Given the description of an element on the screen output the (x, y) to click on. 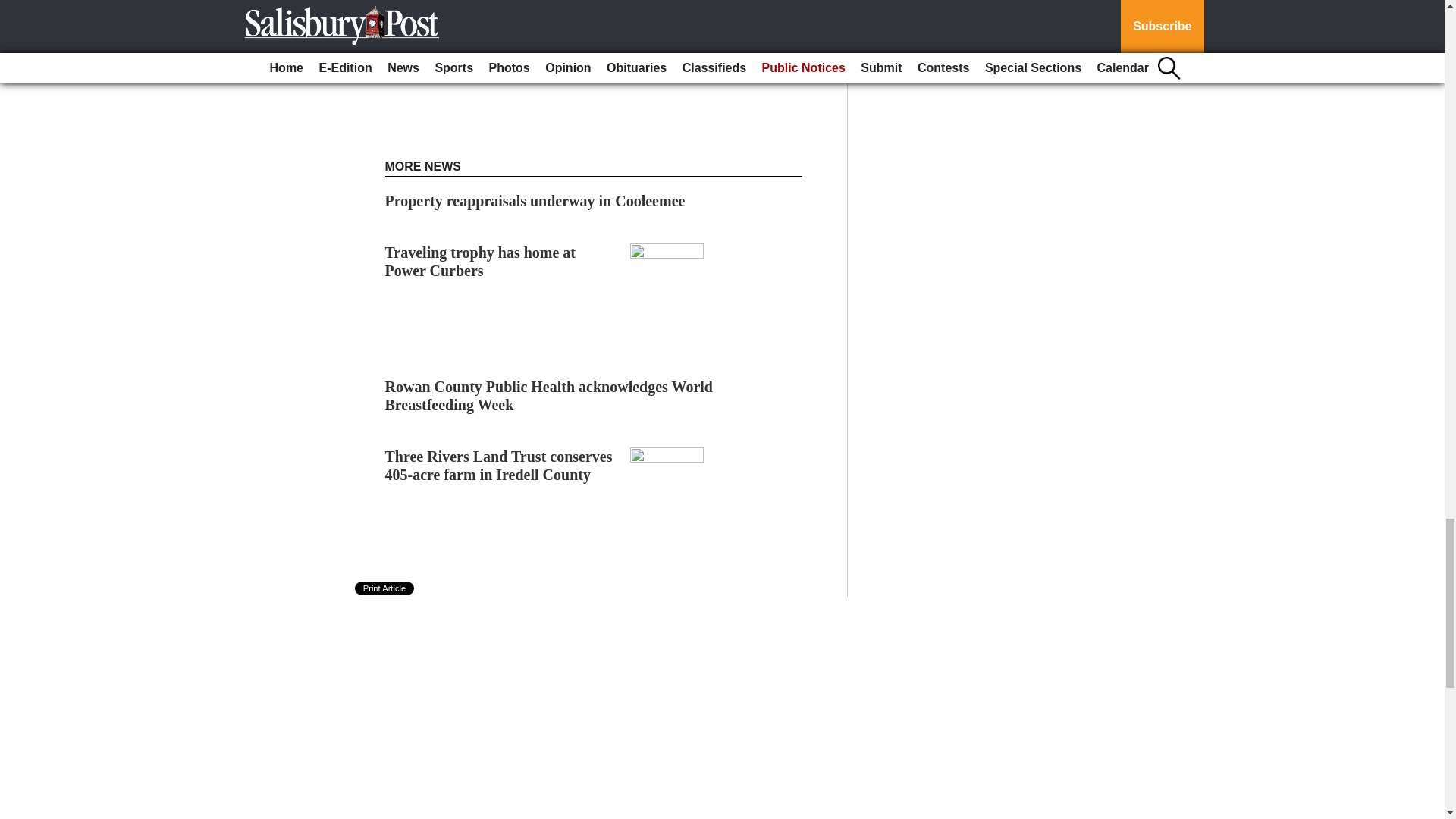
Property reappraisals underway in Cooleemee (535, 200)
Traveling trophy has home at Power Curbers (480, 261)
